Given the description of an element on the screen output the (x, y) to click on. 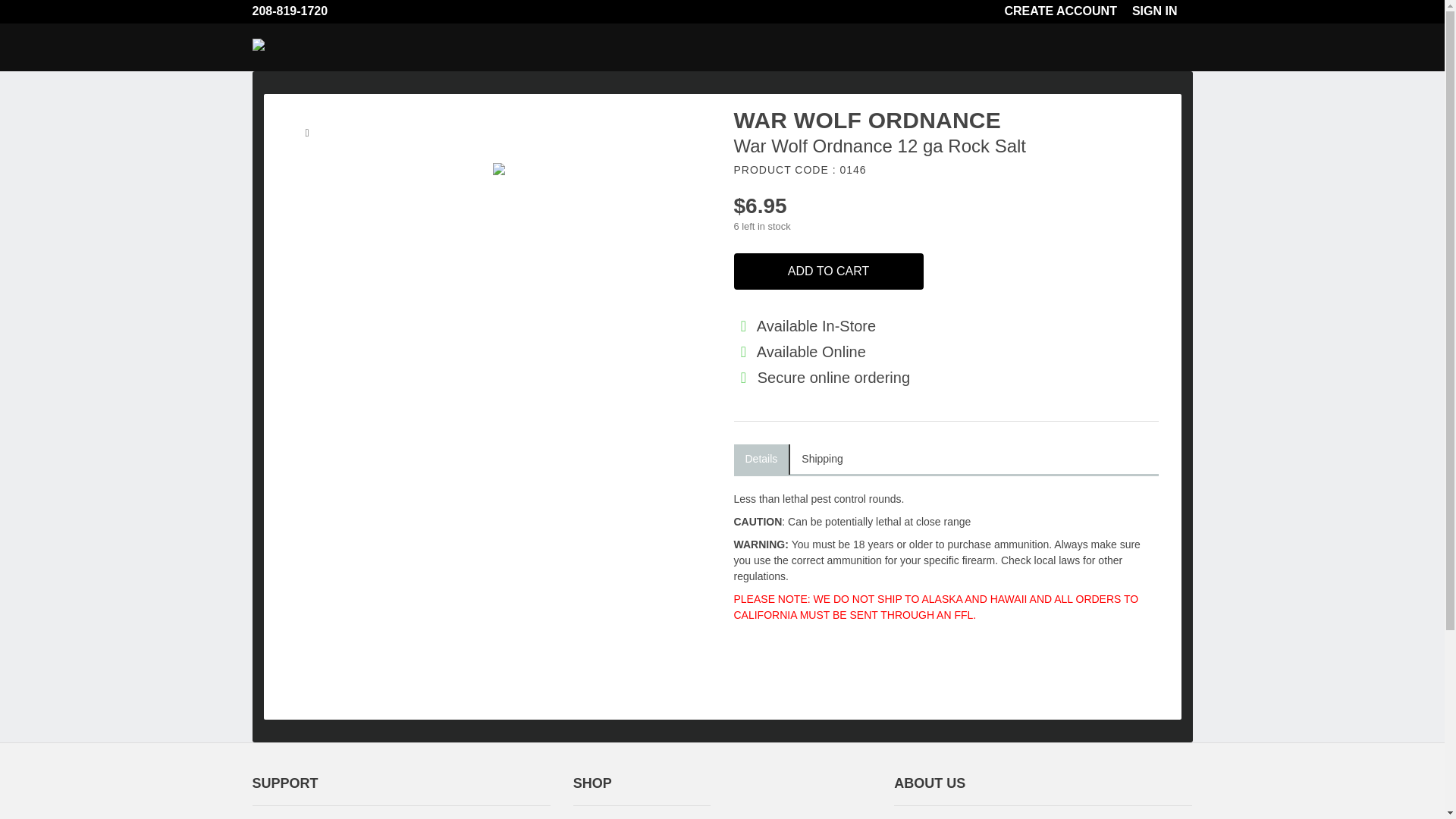
SIGN IN (1162, 11)
208-819-1720 (296, 11)
CREATE ACCOUNT (1067, 11)
